Given the description of an element on the screen output the (x, y) to click on. 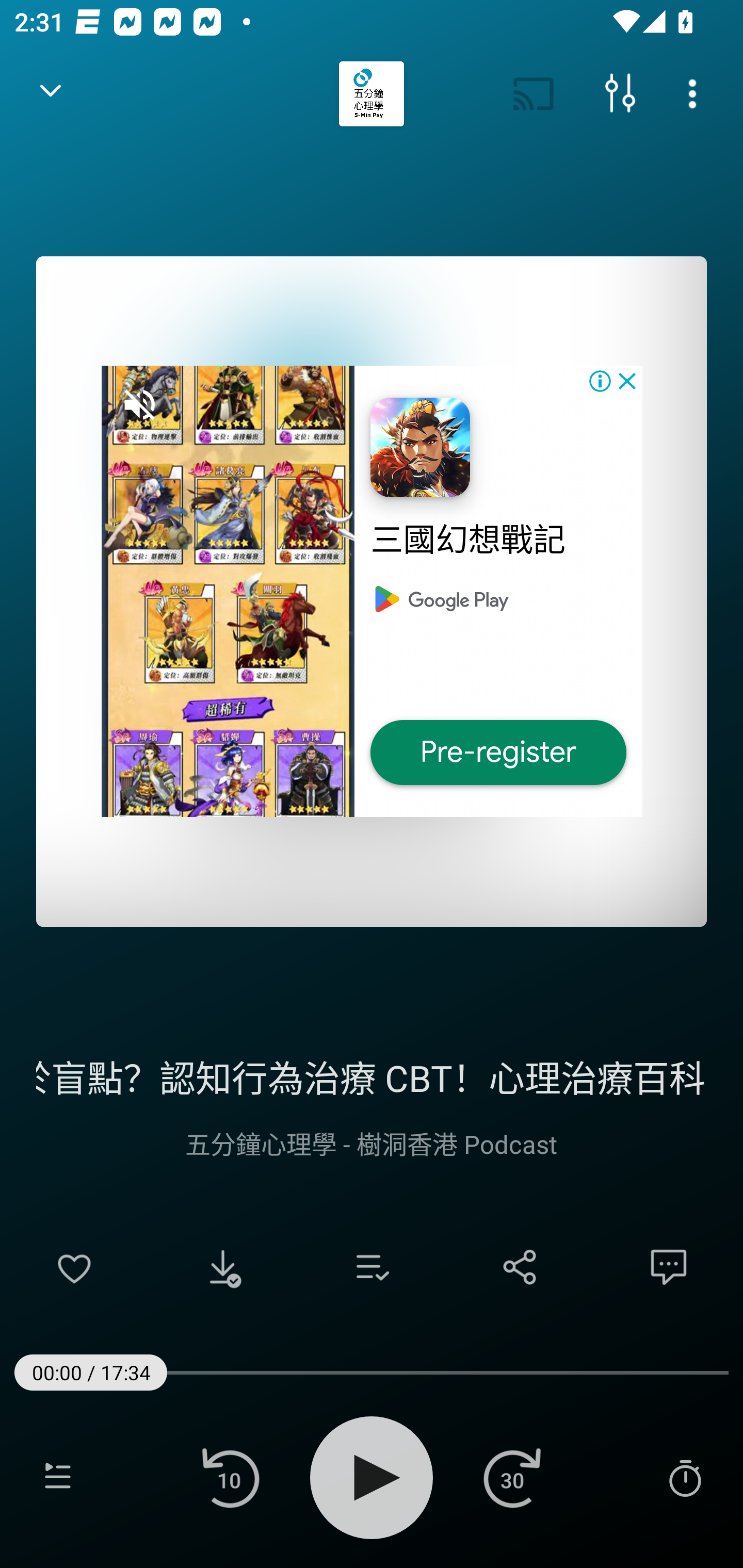
Cast. Disconnected (533, 93)
 Back (50, 94)
三國幻想戰記 Pre-register Pre-register (371, 590)
Pre-register (498, 752)
#PSY｜困擾源於盲點？認知行為治療 CBT！心理治療百科（一）｜#五分鐘心理學 (371, 1075)
五分鐘心理學 - 樹洞香港 Podcast (371, 1142)
Comments (668, 1266)
Add to Favorites (73, 1266)
Add to playlist (371, 1266)
Share (519, 1266)
 Playlist (57, 1477)
Sleep Timer  (684, 1477)
